Given the description of an element on the screen output the (x, y) to click on. 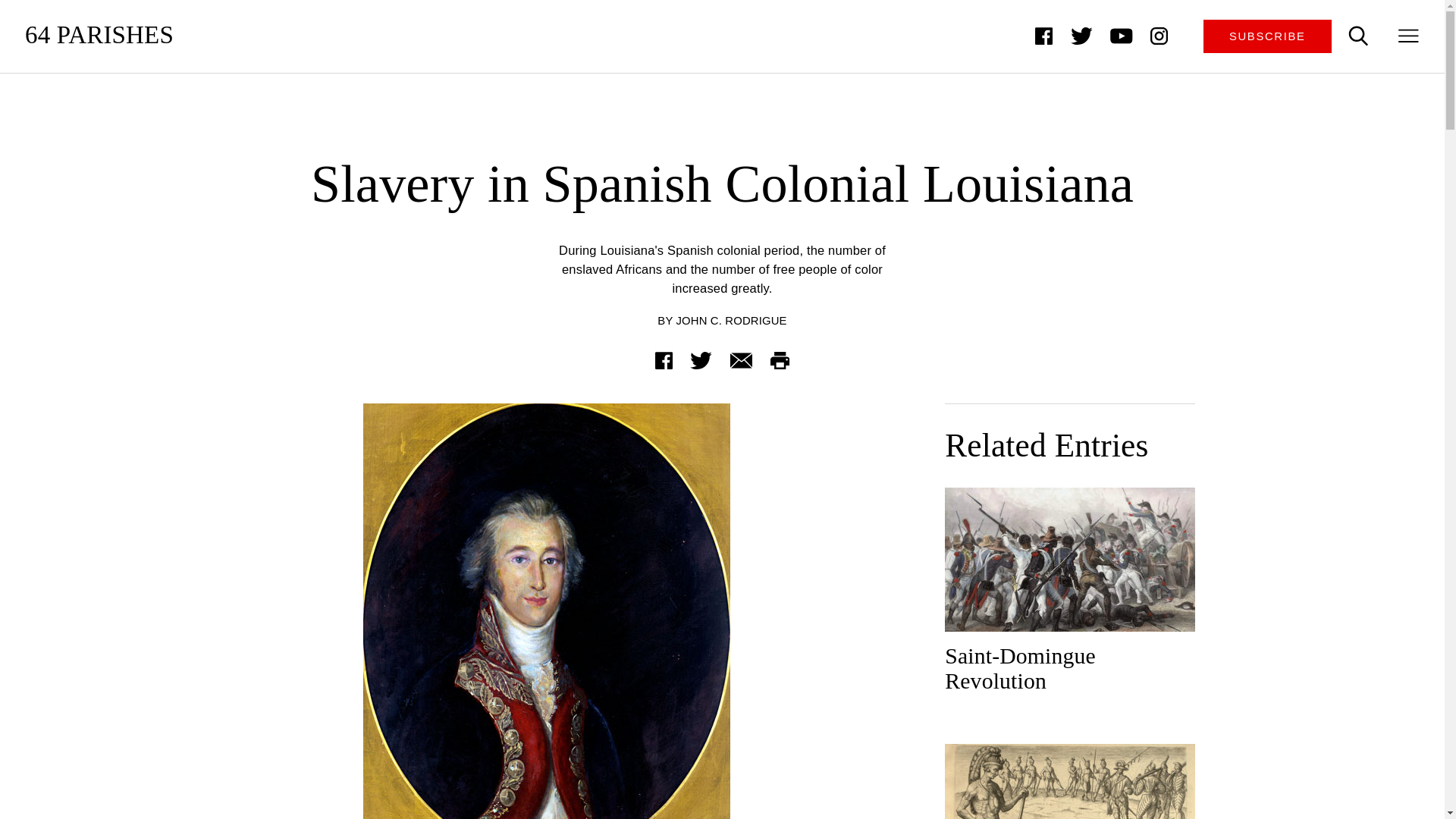
Facebook (663, 360)
Share via Email (740, 360)
Share via Facebook (663, 360)
64 Parishes Home Page (98, 35)
John C. Rodrigue (732, 320)
Facebook (1043, 36)
Email (740, 360)
Follow us on Facebook (1043, 36)
Open the menu (1409, 35)
Twitter (700, 360)
Twitter (1081, 36)
Share via Twitter (700, 360)
Subscribe to the Magazine (1268, 36)
SUBSCRIBE (1268, 36)
JOHN C. RODRIGUE (732, 320)
